Given the description of an element on the screen output the (x, y) to click on. 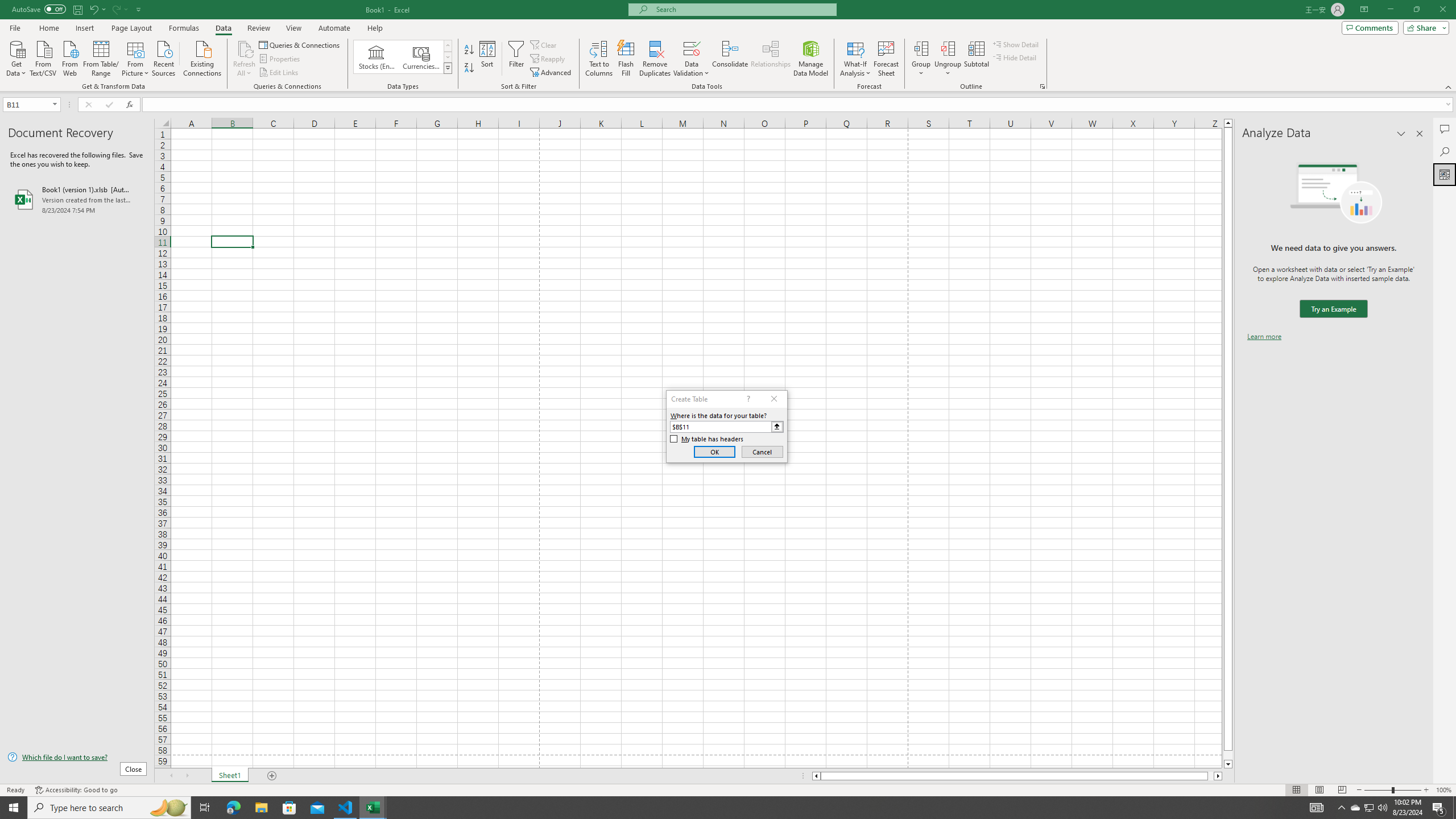
Advanced... (551, 72)
Learn more (1264, 336)
Data Types (448, 67)
Consolidate... (729, 58)
Properties (280, 58)
